Given the description of an element on the screen output the (x, y) to click on. 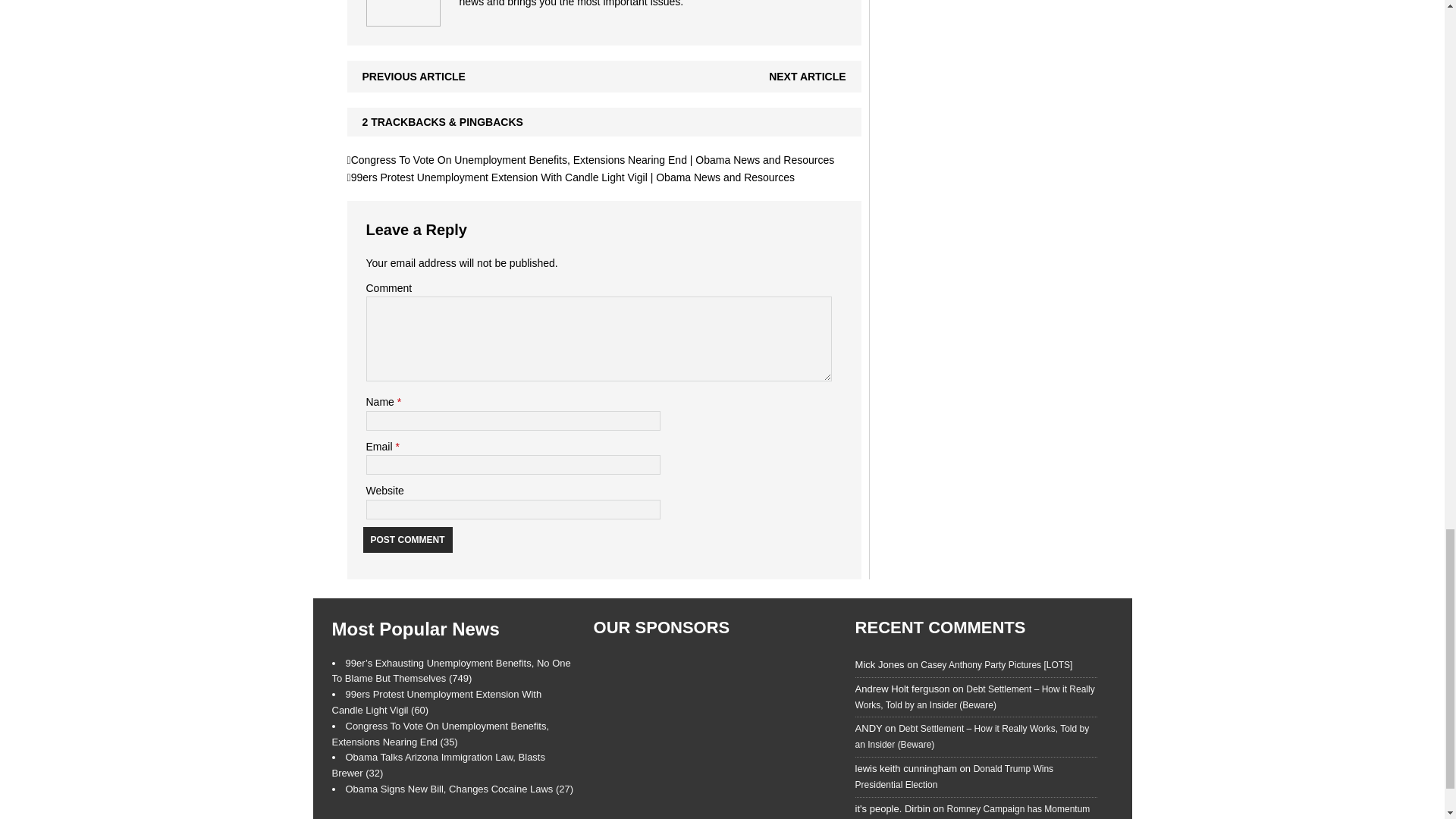
99ers Protest Unemployment Extension With Candle Light Vigil (436, 701)
Post Comment (406, 539)
NEXT ARTICLE (806, 76)
Obama Signs New Bill, Changes Cocaine Laws (459, 788)
Post Comment (406, 539)
Obama Talks Arizona Immigration Law, Blasts Brewer (438, 764)
PREVIOUS ARTICLE (413, 76)
